Given the description of an element on the screen output the (x, y) to click on. 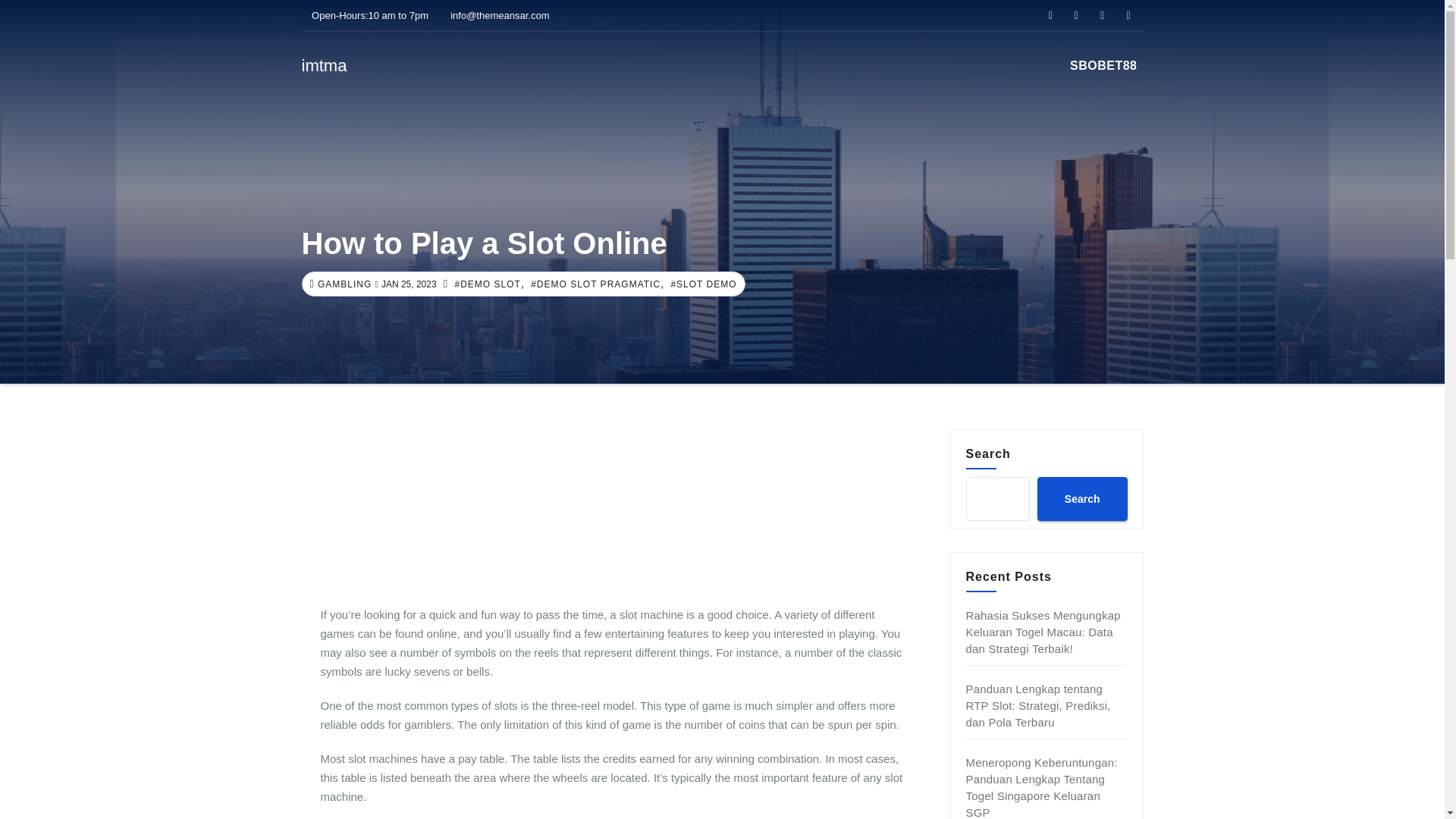
SBOBET88 (1103, 65)
Open-Hours:10 am to 7pm (365, 15)
GAMBLING (342, 284)
imtma (324, 65)
SBOBET88 (1103, 65)
Search (1081, 498)
